Given the description of an element on the screen output the (x, y) to click on. 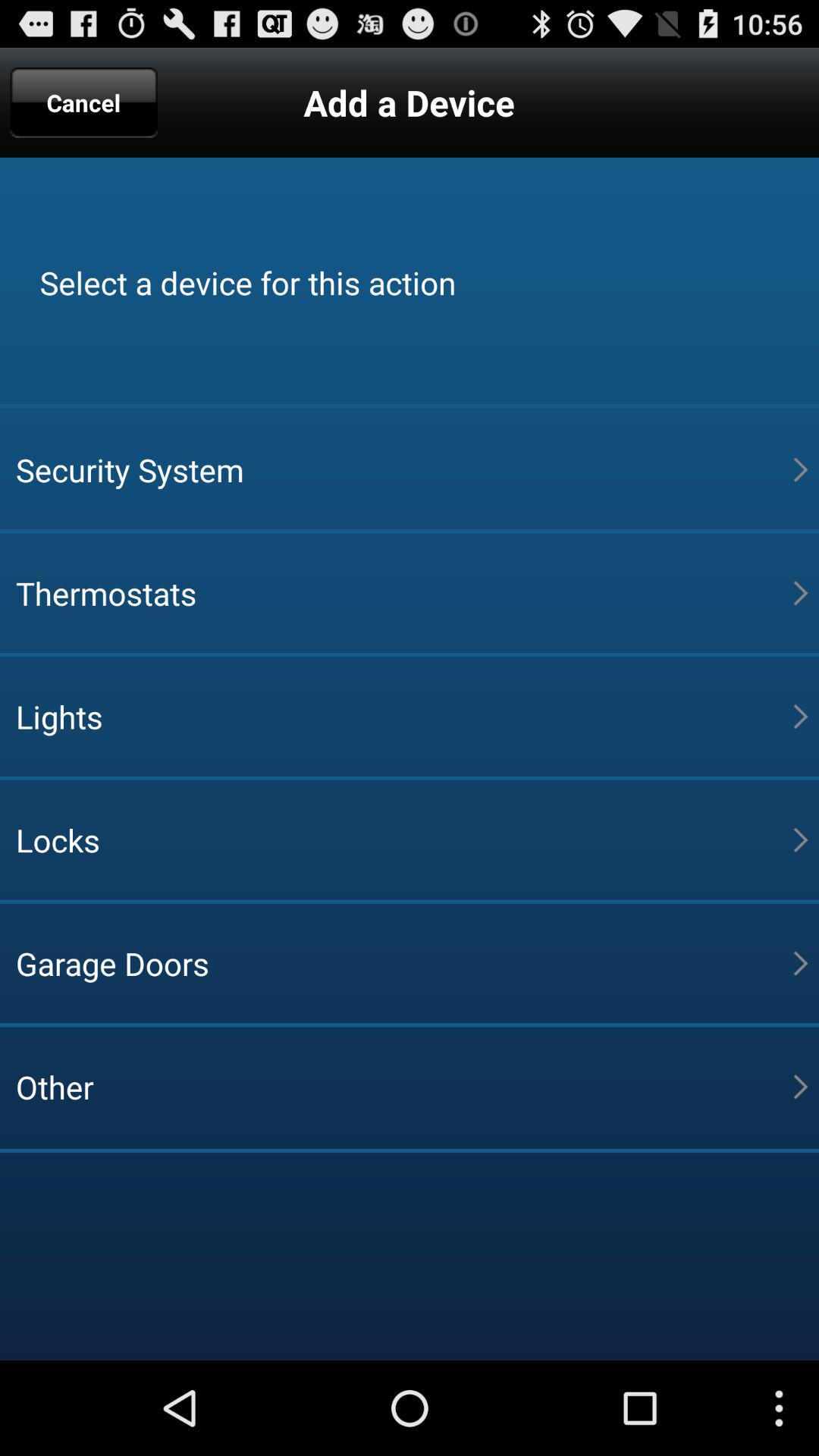
turn on the cancel at the top left corner (83, 102)
